Given the description of an element on the screen output the (x, y) to click on. 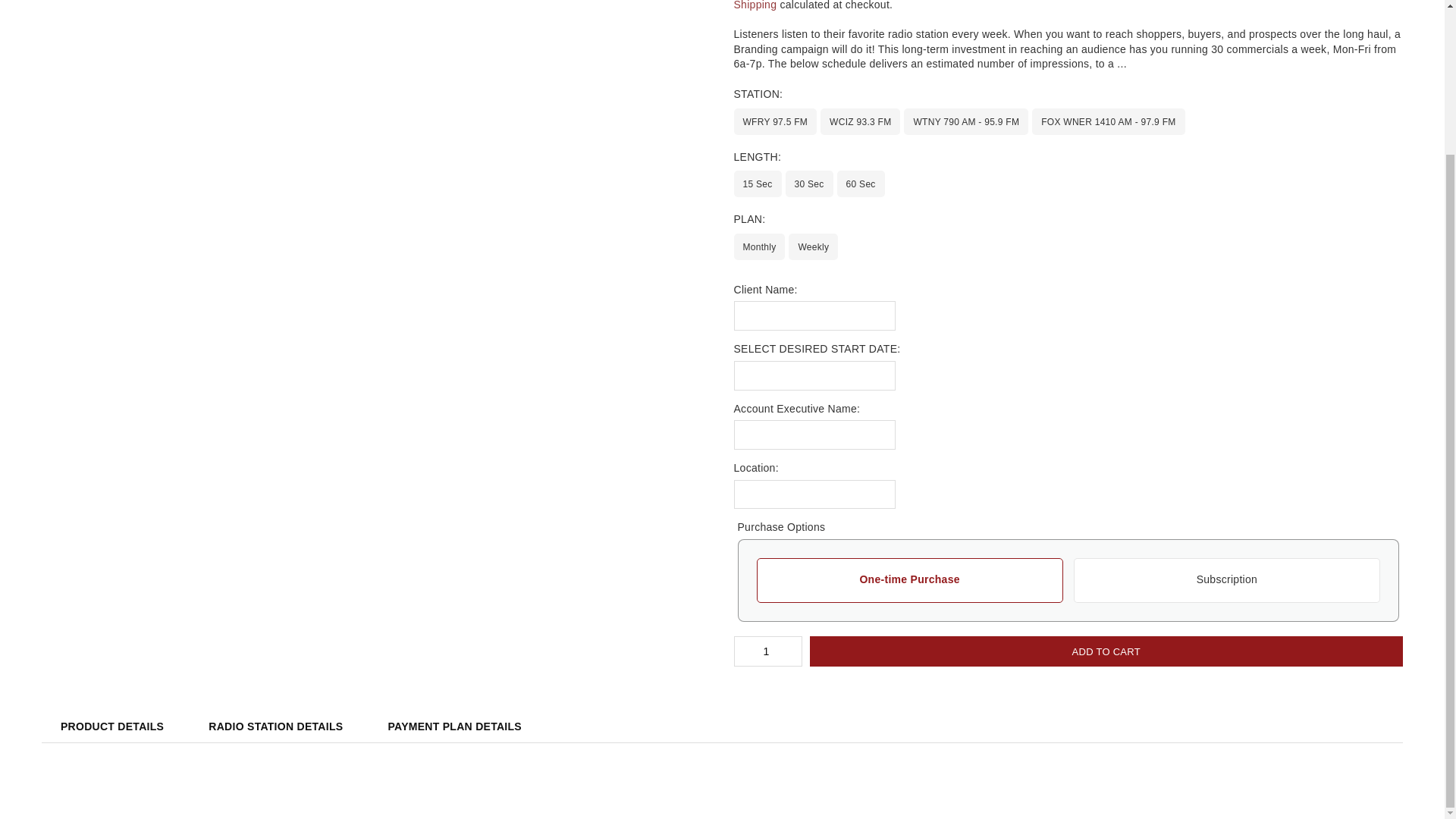
Quantity (767, 651)
